Given the description of an element on the screen output the (x, y) to click on. 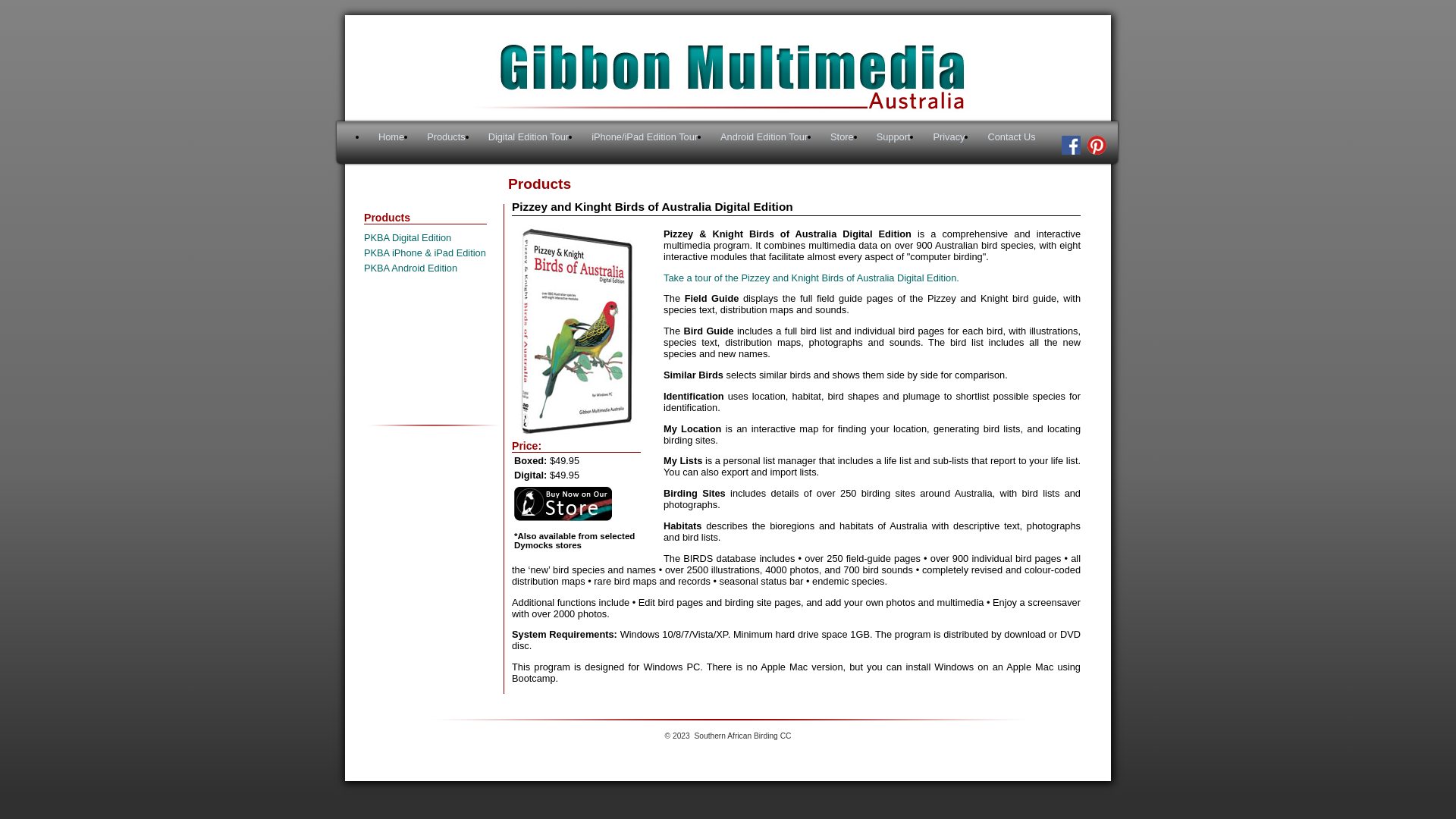
Products Element type: text (445, 136)
PKBA Digital Edition Element type: text (407, 237)
Follow us on Pinterest Element type: hover (1096, 144)
Privacy Element type: text (948, 136)
Follow us on Facebook Element type: hover (1070, 144)
Android Edition Tour Element type: text (764, 136)
Support Element type: text (893, 136)
Contact Us Element type: text (1010, 136)
PKBA iPhone & iPad Edition Element type: text (425, 252)
iPhone/iPad Edition Tour Element type: text (644, 136)
Follow us on Pinterest Element type: hover (1094, 150)
PKBA Android Edition Element type: text (410, 267)
Pizzey and Knight Digital Edition Element type: hover (575, 331)
Store Element type: text (842, 136)
Home Element type: text (391, 136)
Digital Edition Tour Element type: text (528, 136)
Follow us on Facebook Element type: hover (1068, 150)
